Given the description of an element on the screen output the (x, y) to click on. 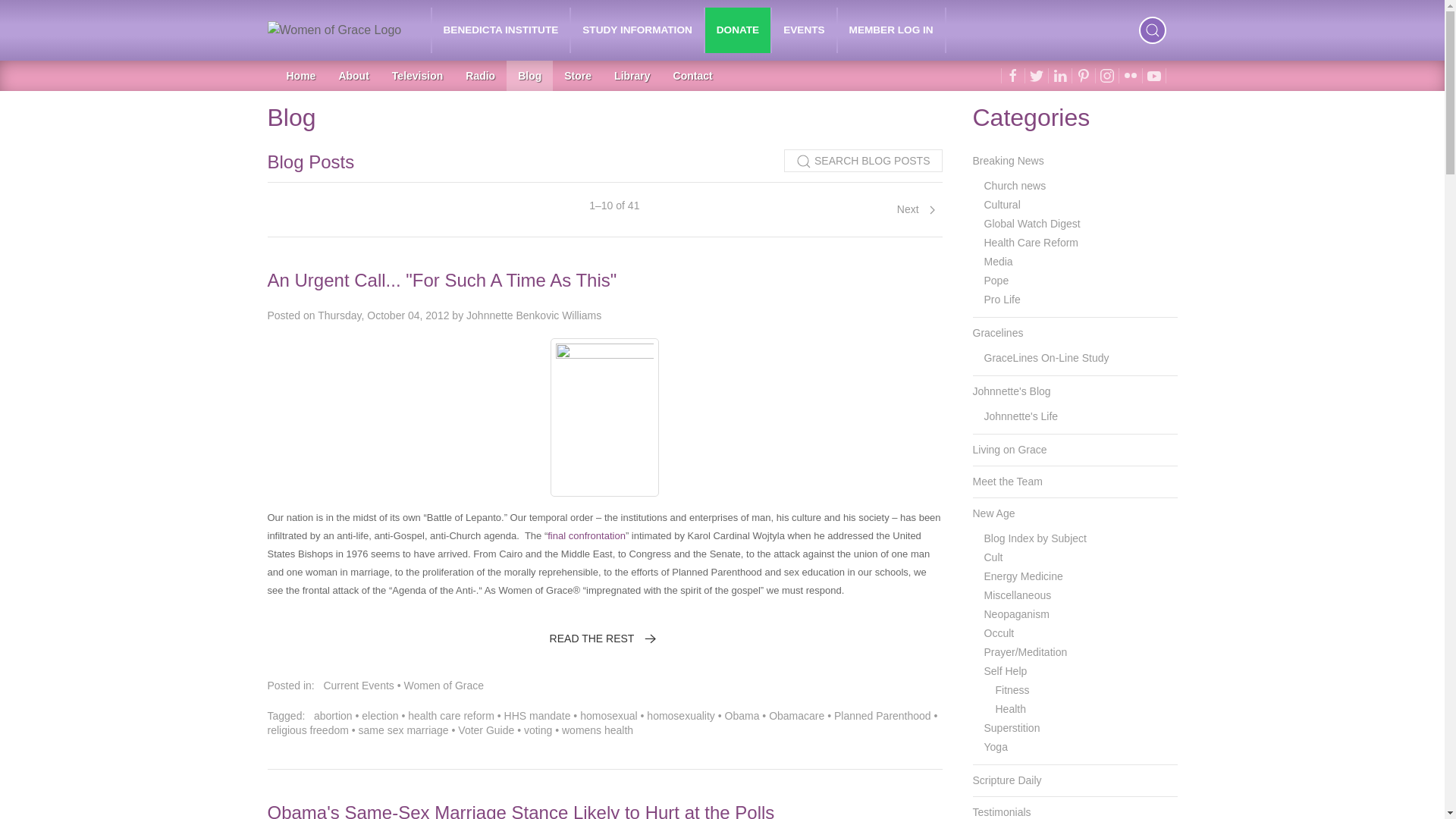
homosexuality (680, 715)
final confrontation (586, 535)
Contact (692, 75)
Permalink to An Urgent Call... "For Such A Time As This" (440, 280)
About (353, 75)
READ THE REST (605, 638)
Current Events (358, 685)
election (379, 715)
SEARCH BLOG POSTS (863, 160)
MEMBER LOG IN (891, 30)
Johnnette Benkovic Williams (533, 315)
Next (915, 209)
BENEDICTA INSTITUTE (501, 30)
Home (300, 75)
 1:54 am (382, 315)
